Given the description of an element on the screen output the (x, y) to click on. 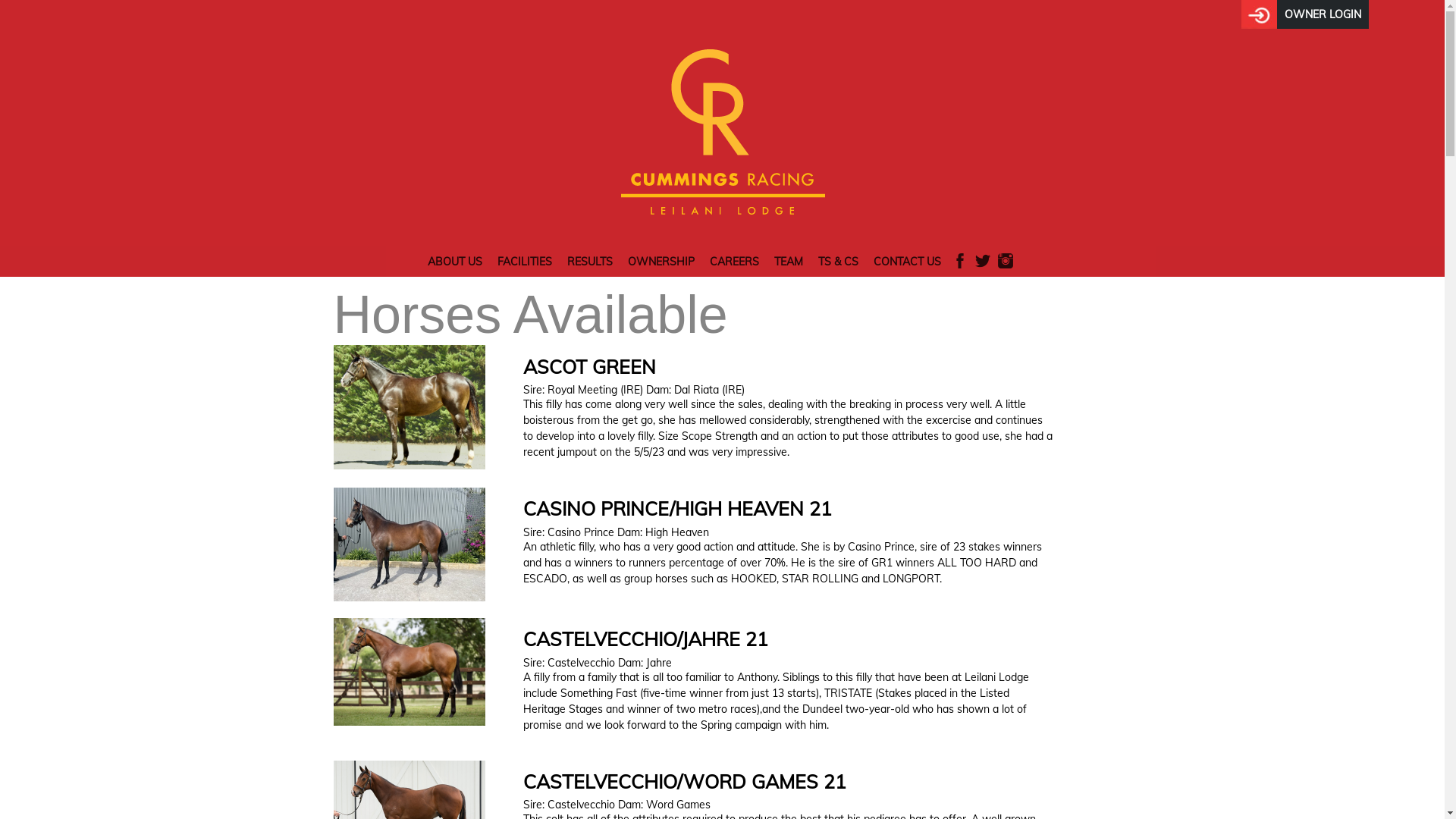
Client Login Element type: hover (1259, 13)
RESULTS Element type: text (589, 261)
TS & CS Element type: text (838, 261)
OWNER LOGIN Element type: text (1322, 14)
CONTACT US Element type: text (907, 261)
CASTELVECCHIO/WORD GAMES 21 Element type: text (684, 781)
TEAM Element type: text (788, 261)
CASINO PRINCE/HIGH HEAVEN 21 Element type: text (677, 508)
ASCOT GREEN Element type: text (589, 366)
CASTELVECCHIO/JAHRE 21 Element type: text (645, 638)
